Given the description of an element on the screen output the (x, y) to click on. 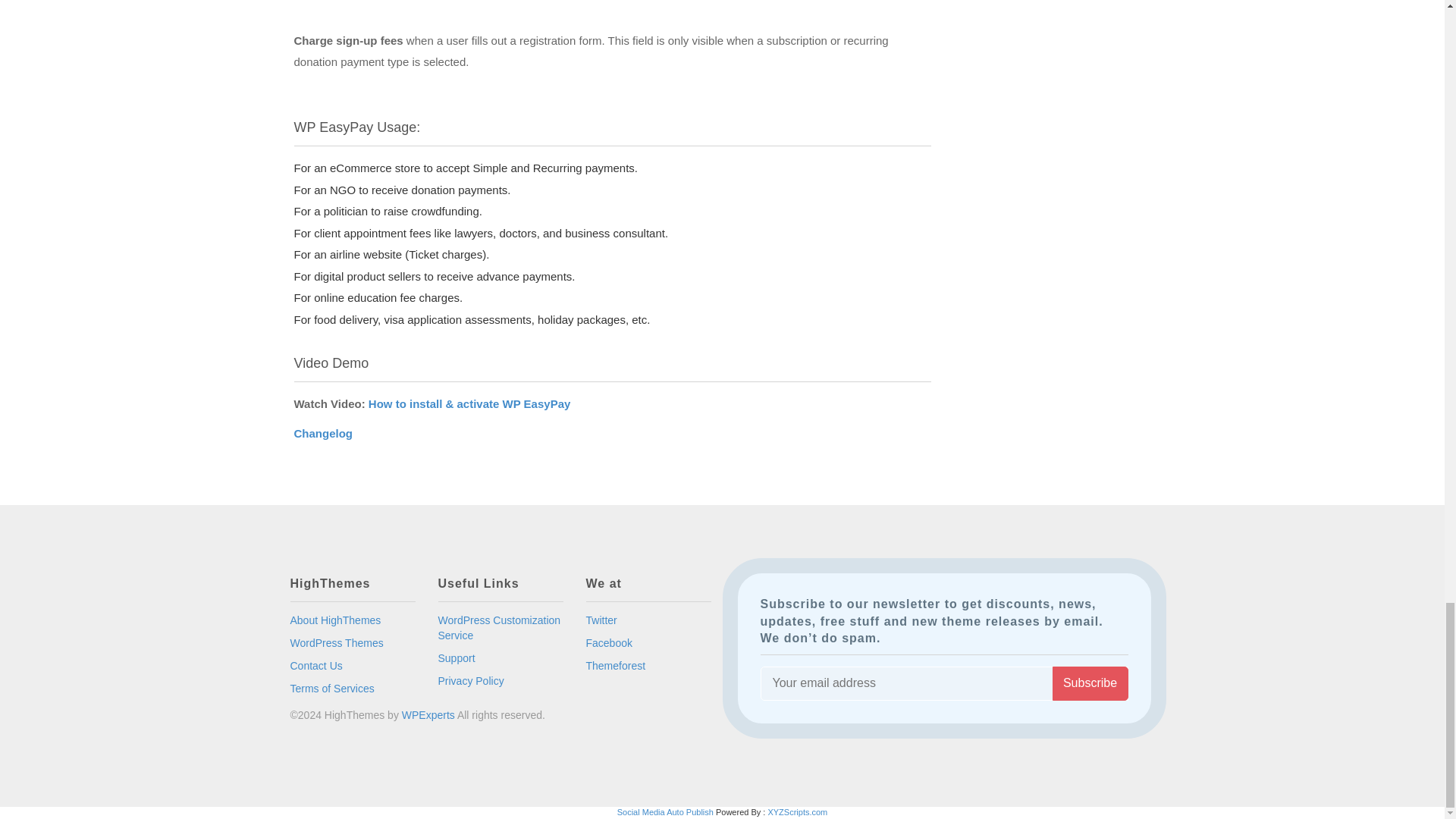
Changelog (323, 432)
Twitter (600, 620)
Contact Us (315, 665)
Privacy Policy (470, 680)
About HighThemes (334, 620)
Social Media Auto Publish (665, 811)
WordPress Themes (335, 643)
Support (457, 657)
Terms of Services (331, 688)
Facebook (608, 643)
